Given the description of an element on the screen output the (x, y) to click on. 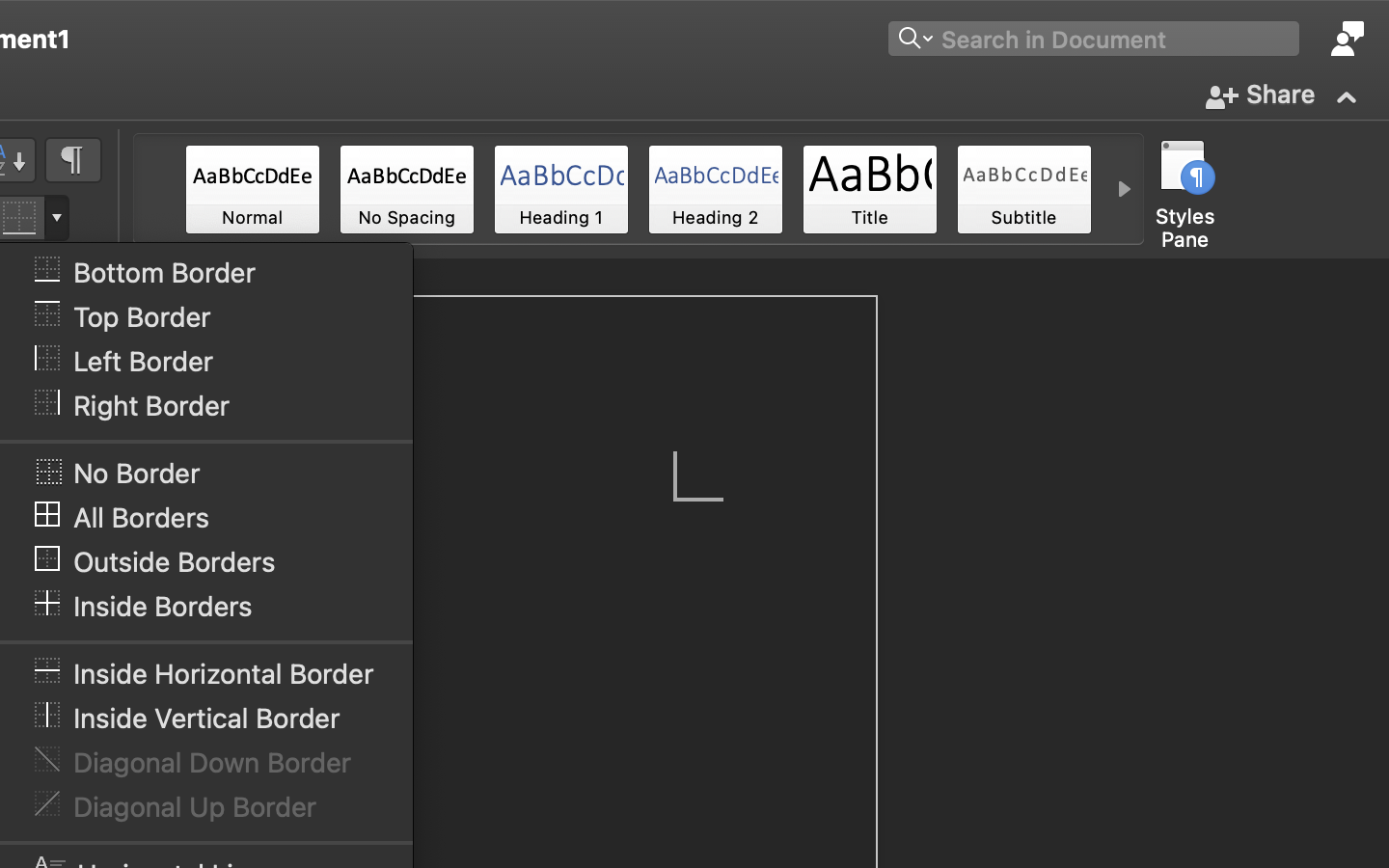
0 Element type: AXRadioButton (252, 188)
